Given the description of an element on the screen output the (x, y) to click on. 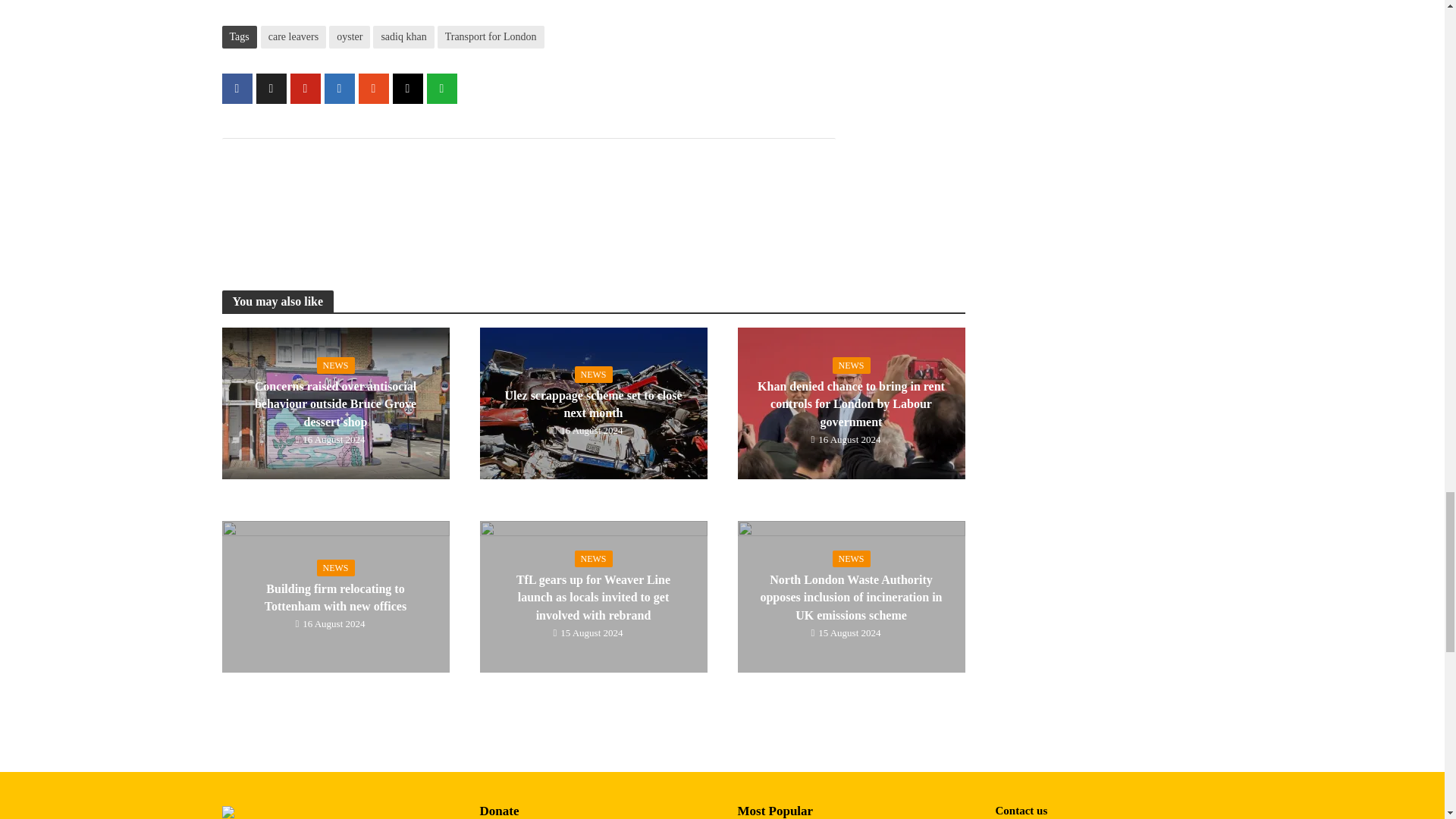
Building firm relocating to Tottenham with new offices (334, 594)
Ulez scrappage scheme set to close next month (592, 401)
